Given the description of an element on the screen output the (x, y) to click on. 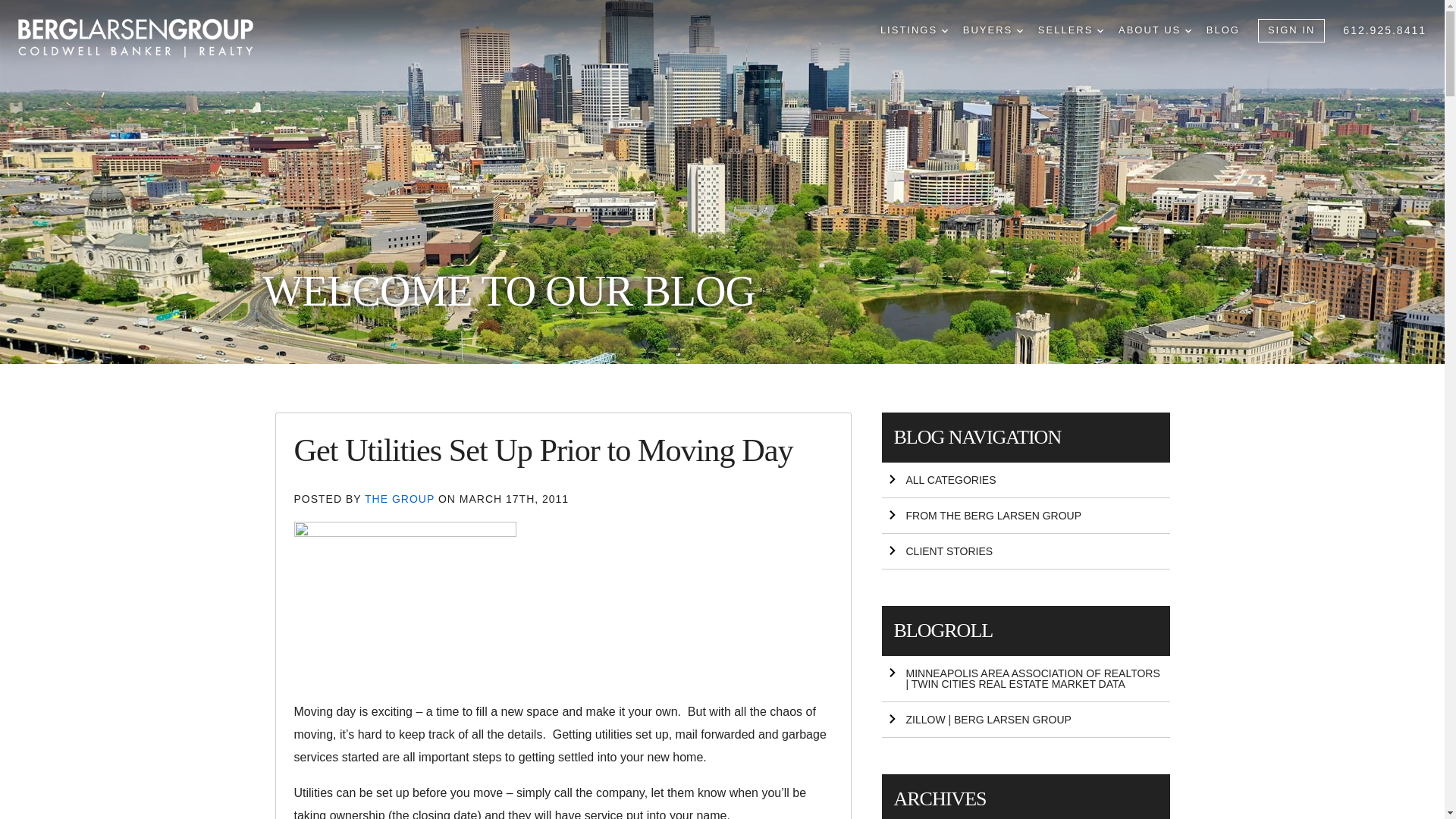
DROPDOWN ARROW (1188, 30)
SELLERS DROPDOWN ARROW (1070, 30)
DROPDOWN ARROW (944, 30)
DROPDOWN ARROW (1100, 30)
BUYERS DROPDOWN ARROW (992, 30)
ABOUT US DROPDOWN ARROW (1154, 30)
BLOG (1223, 30)
LISTINGS DROPDOWN ARROW (913, 30)
DROPDOWN ARROW (1019, 30)
